Given the description of an element on the screen output the (x, y) to click on. 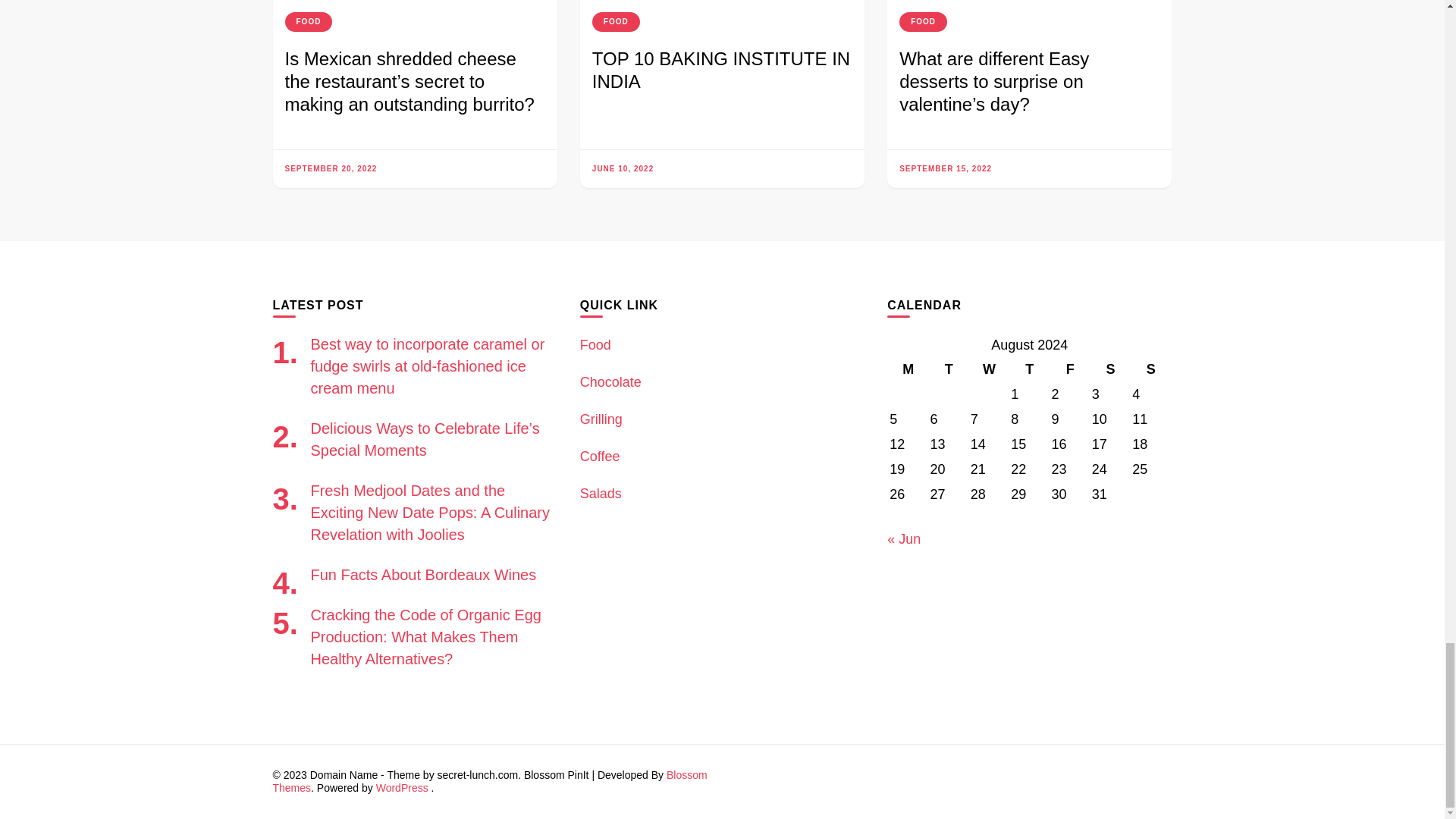
Wednesday (989, 369)
Thursday (1029, 369)
Tuesday (948, 369)
Saturday (1109, 369)
Friday (1069, 369)
Monday (907, 369)
Sunday (1150, 369)
